Given the description of an element on the screen output the (x, y) to click on. 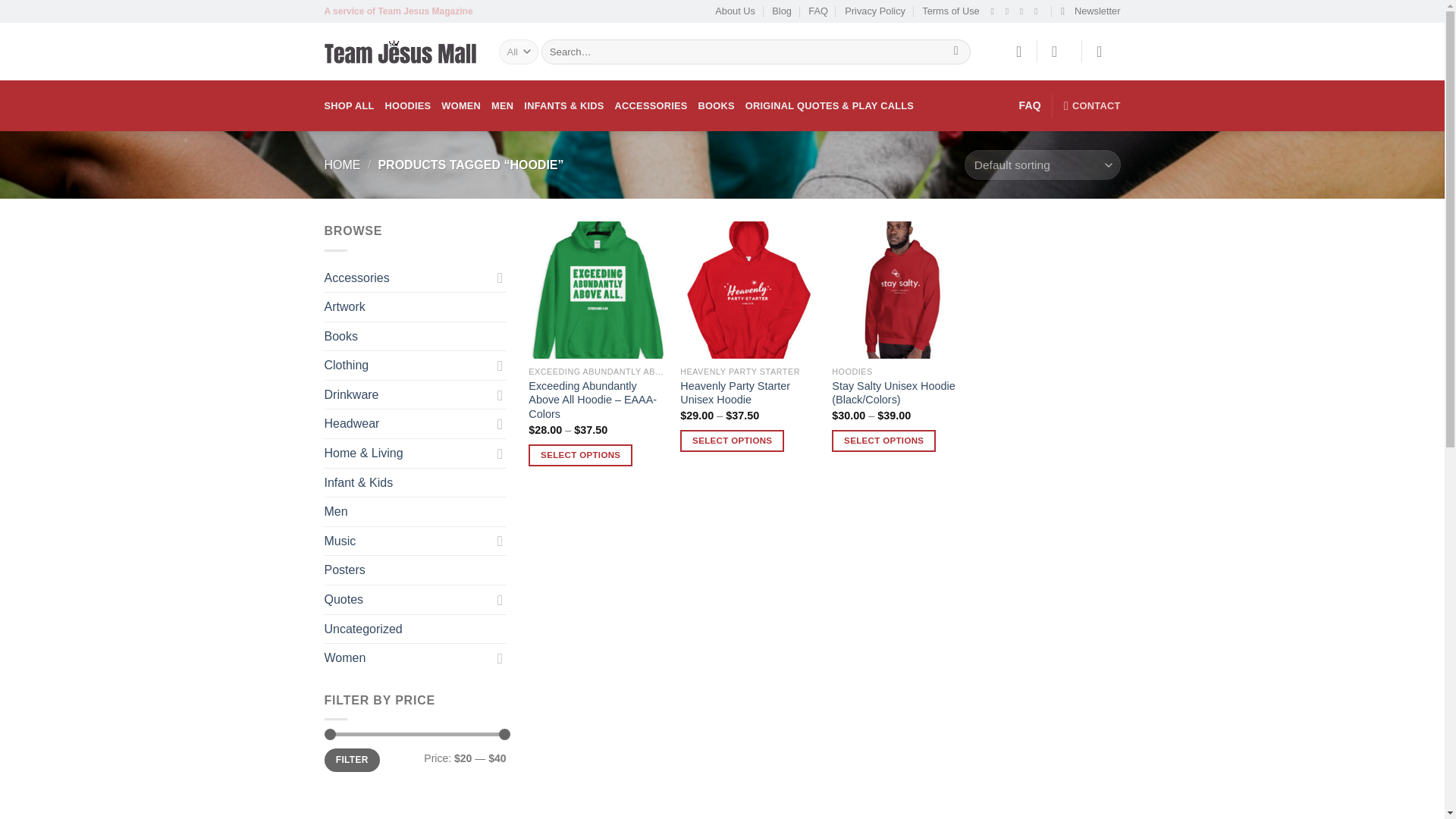
About Us (734, 11)
CONTACT (1092, 105)
Search (955, 52)
Artwork (415, 306)
Sign up for BIG SAVINGS (1090, 11)
Accessories (407, 277)
Privacy Policy (874, 11)
SHOP ALL (349, 105)
ACCESSORIES (650, 105)
Team Jesus Mall (400, 52)
Newsletter (1090, 11)
HOODIES (407, 105)
HOME (342, 164)
Terms of Use (949, 11)
Cart (1103, 51)
